Given the description of an element on the screen output the (x, y) to click on. 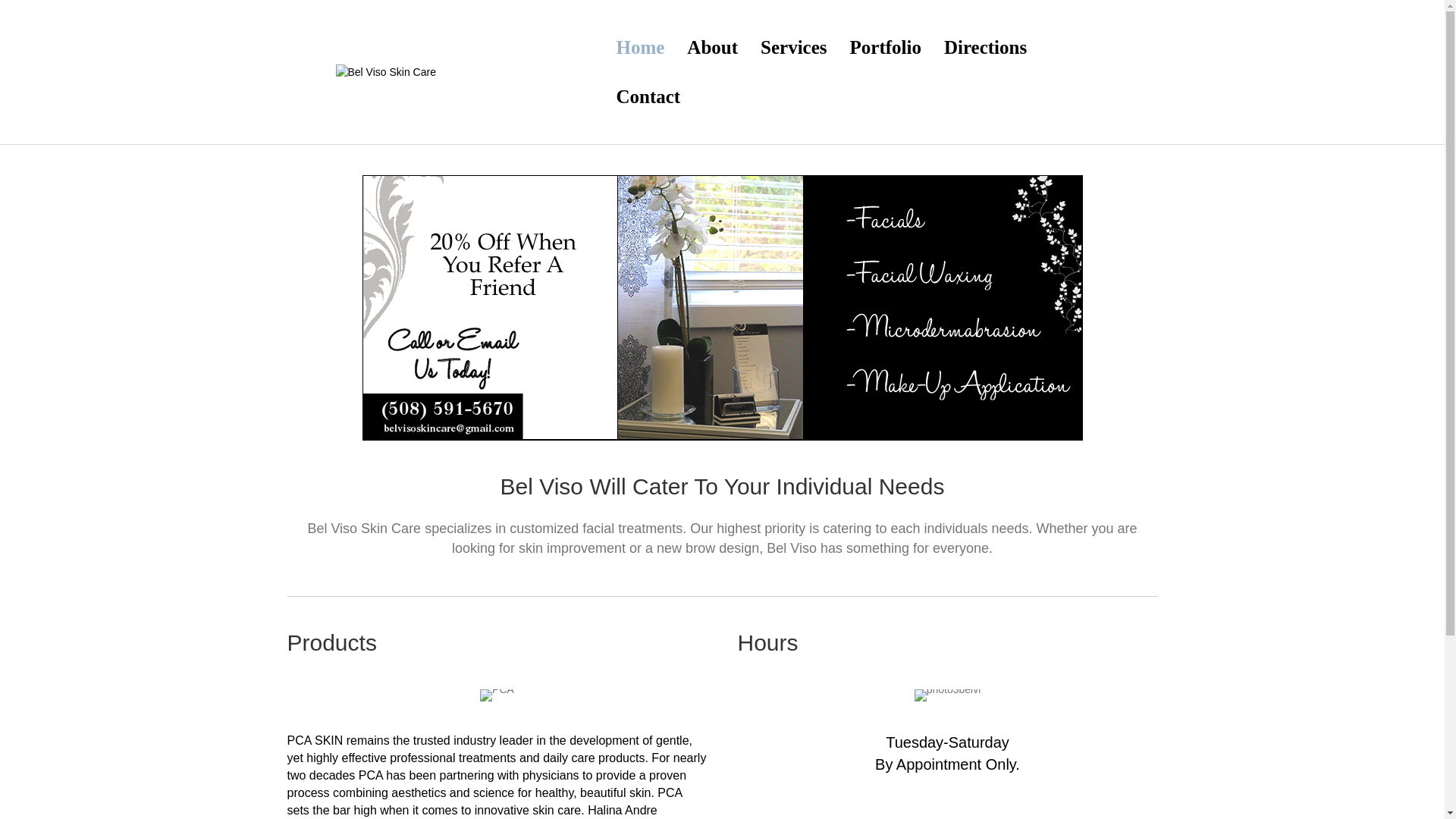
Services (793, 47)
Home (639, 47)
photo3belvi (947, 695)
Contact (647, 96)
Directions (985, 47)
Portfolio (885, 47)
About (712, 47)
PCA (496, 695)
